Given the description of an element on the screen output the (x, y) to click on. 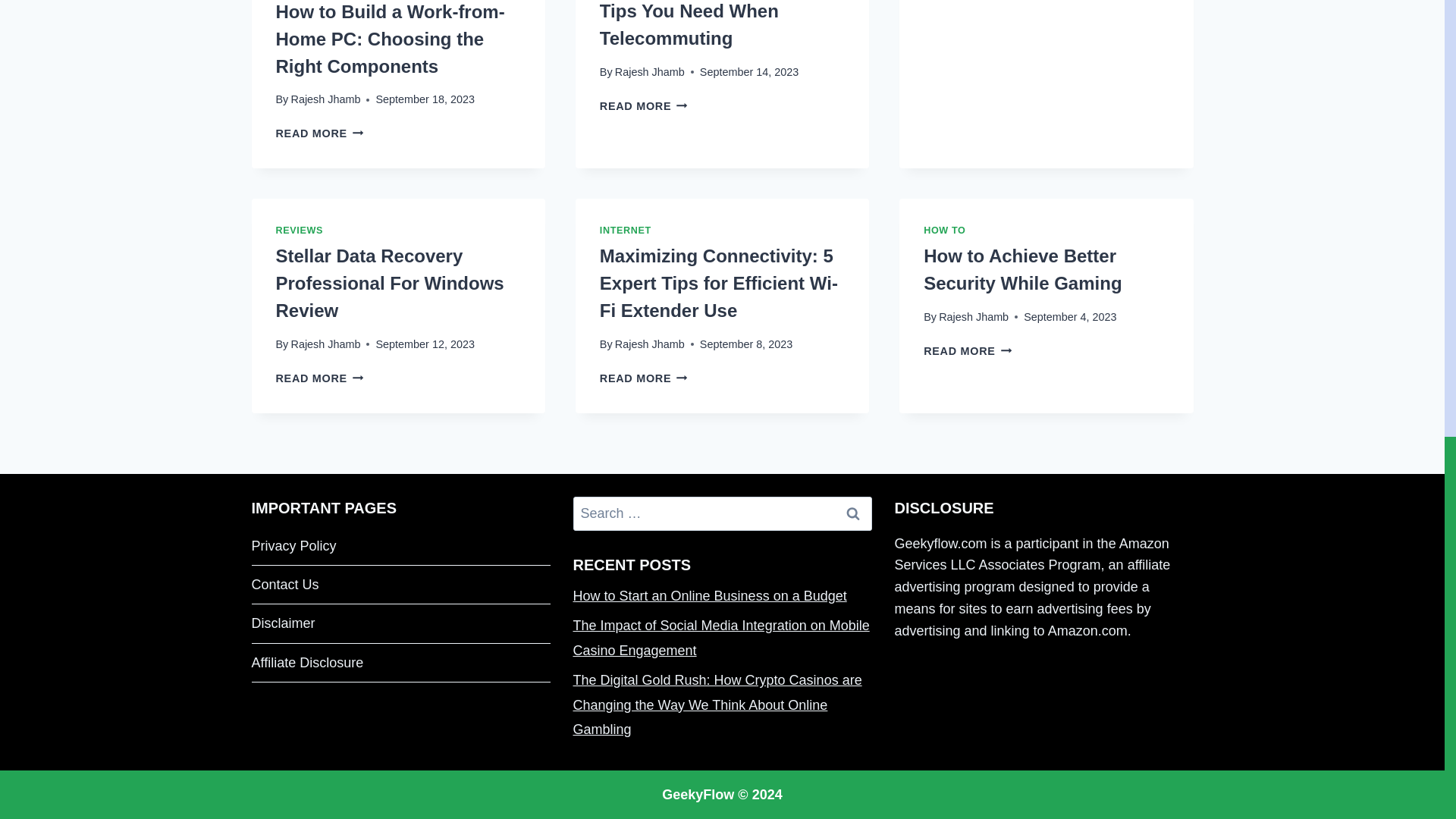
Search (853, 513)
Search (853, 513)
